Given the description of an element on the screen output the (x, y) to click on. 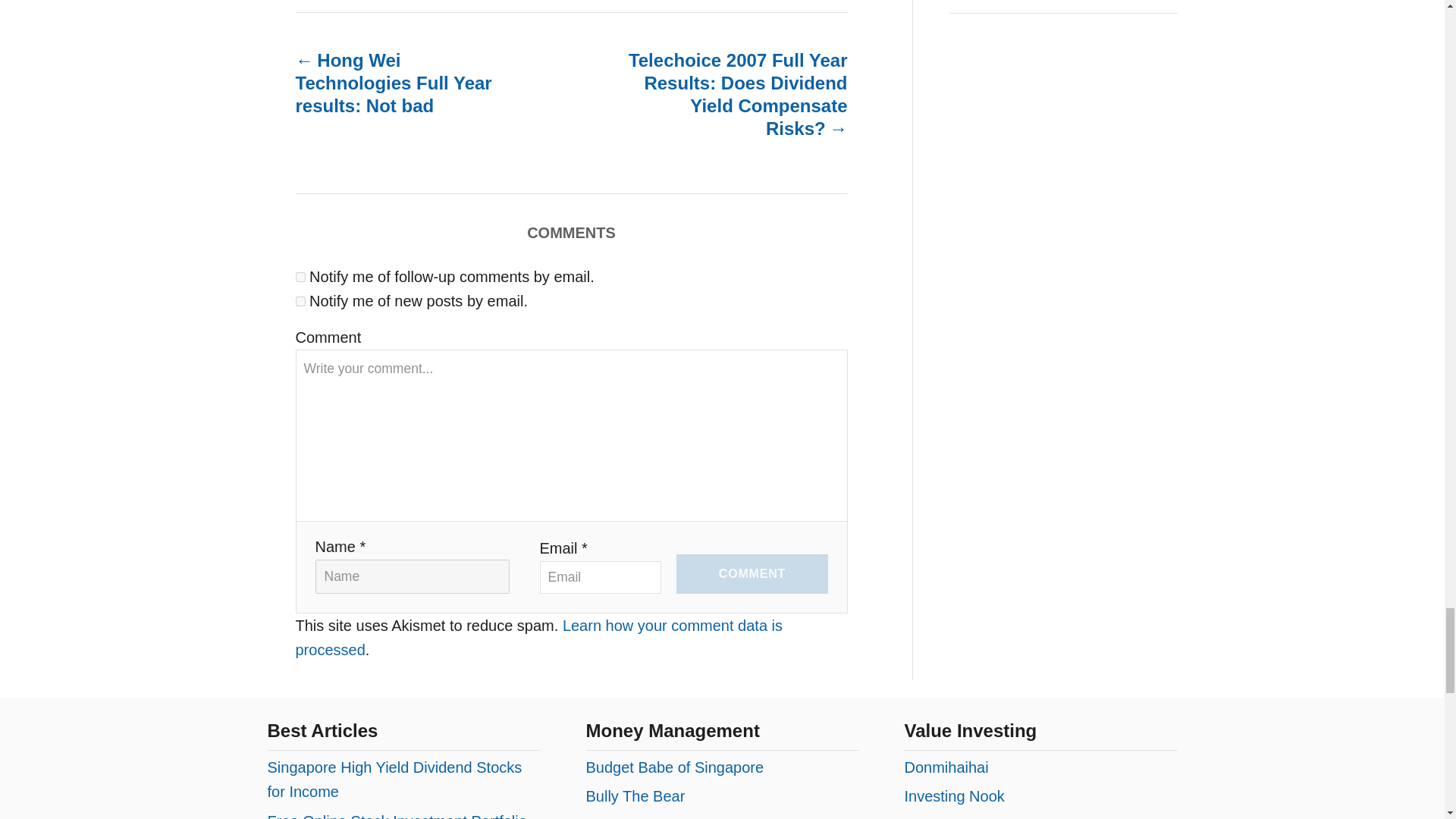
subscribe (300, 301)
subscribe (300, 276)
